Given the description of an element on the screen output the (x, y) to click on. 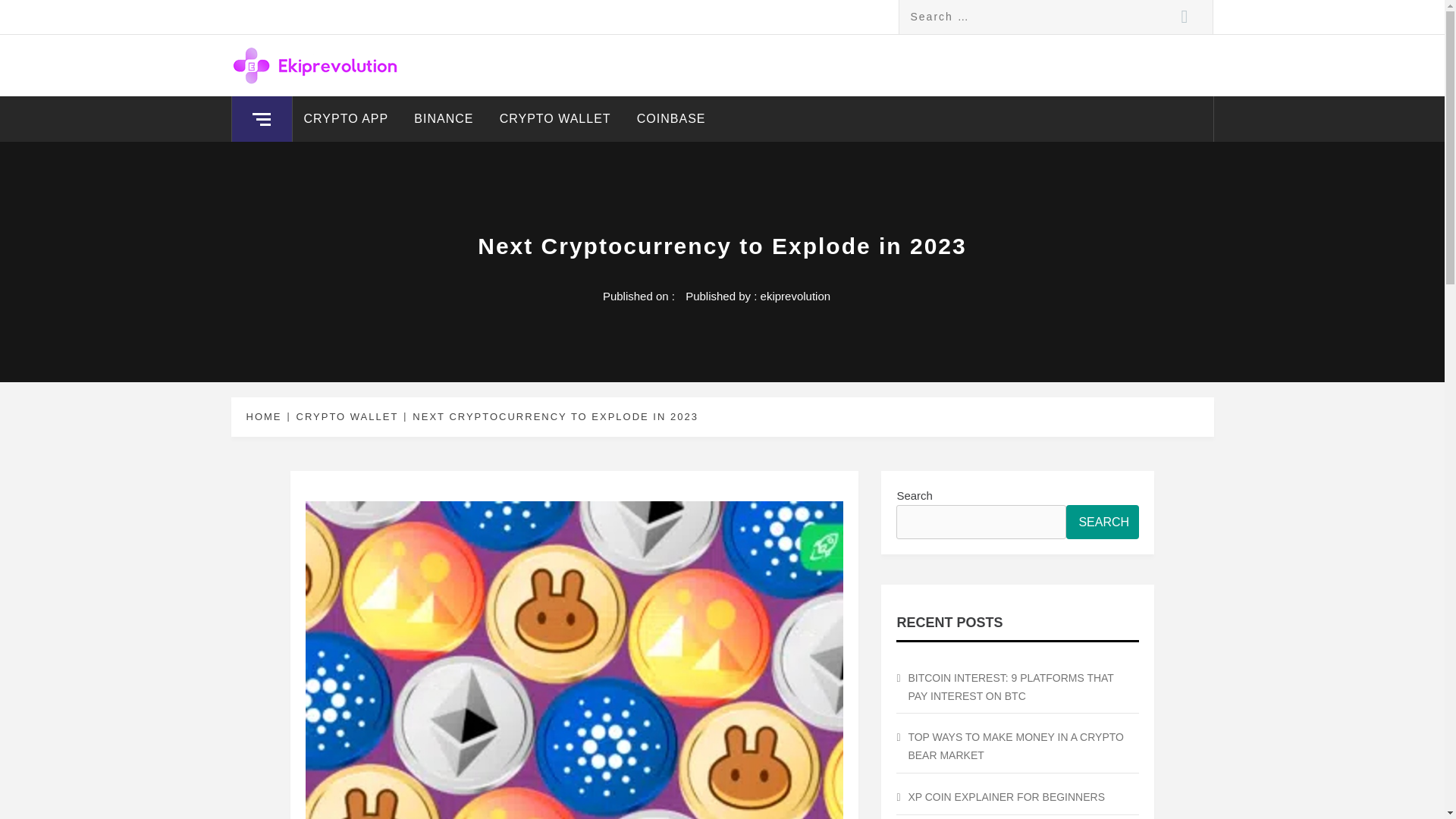
Search (1184, 17)
BINANCE (443, 118)
XP COIN EXPLAINER FOR BEGINNERS (1017, 797)
ekiprevolution (337, 70)
NEXT CRYPTOCURRENCY TO EXPLODE IN 2023 (553, 416)
ekiprevolution (795, 295)
BITCOIN INTEREST: 9 PLATFORMS THAT PAY INTEREST ON BTC (1017, 687)
Search (1184, 17)
CRYPTO APP (346, 118)
Search (1184, 17)
HOME (266, 416)
CRYPTO WALLET (555, 118)
CRYPTO WALLET (344, 416)
SEARCH (1101, 521)
COINBASE (671, 118)
